Given the description of an element on the screen output the (x, y) to click on. 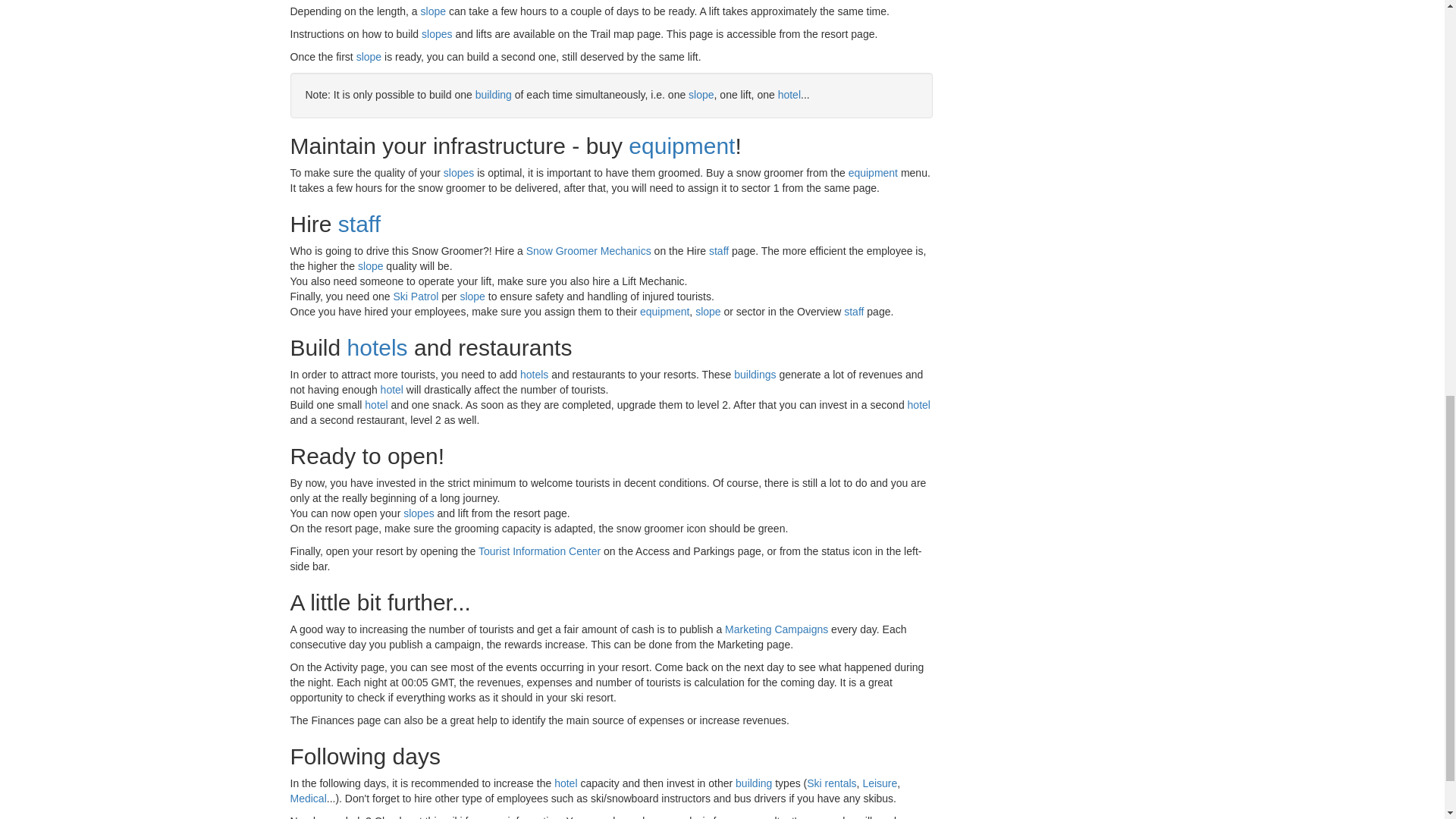
hotel (788, 94)
equipment (873, 173)
slope (432, 10)
slopes (459, 173)
building (494, 94)
Snow Groomer Mechanics (587, 250)
equipment (681, 145)
staff (358, 223)
slopes (436, 33)
slope (368, 56)
